Given the description of an element on the screen output the (x, y) to click on. 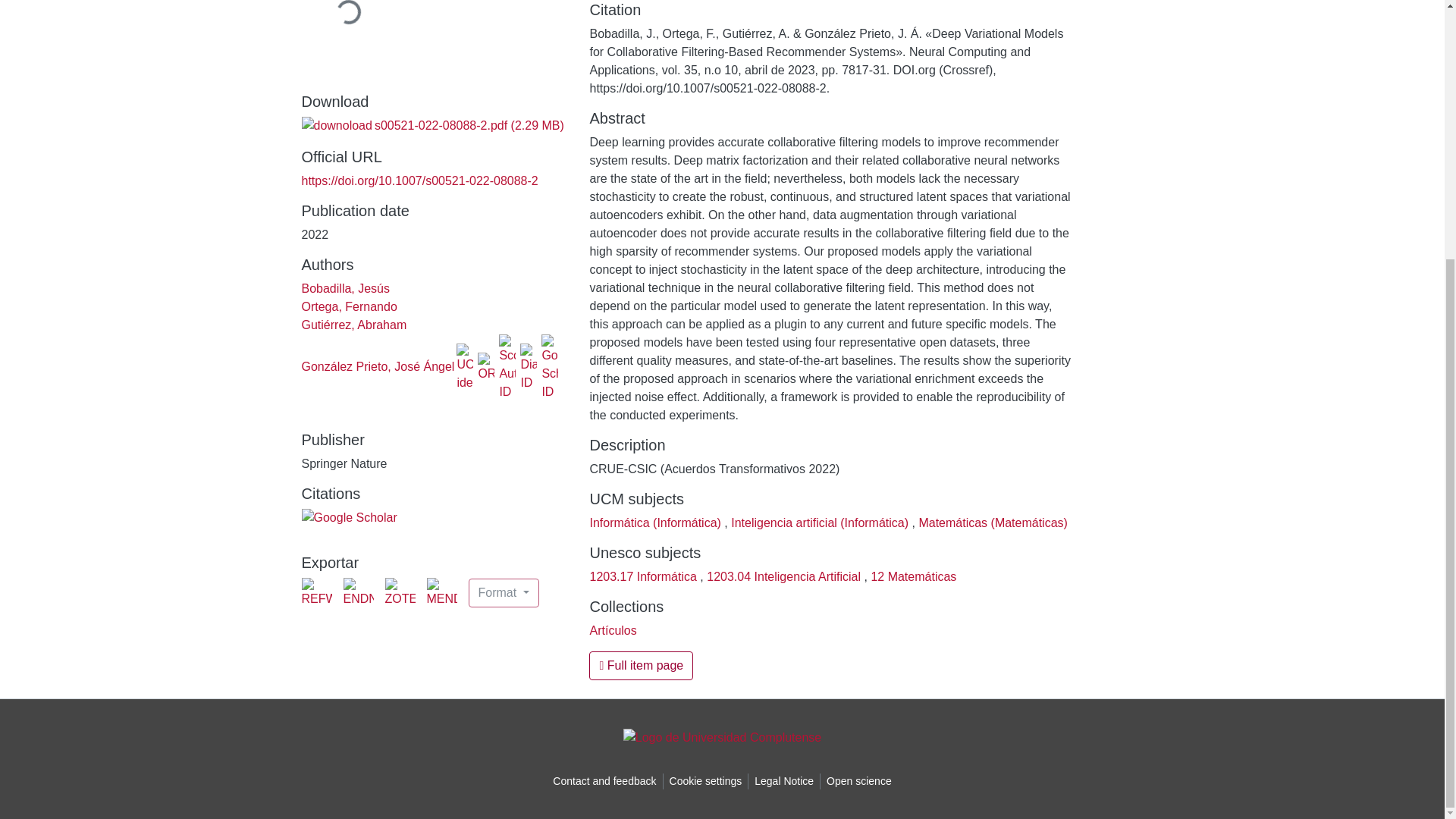
downoloade (336, 126)
ENDNOTE (357, 593)
REFWORKS (316, 593)
ZOTERO (399, 593)
Citations in Google Scholar (349, 517)
Ortega, Fernando (349, 306)
MENDELEY (441, 593)
